Given the description of an element on the screen output the (x, y) to click on. 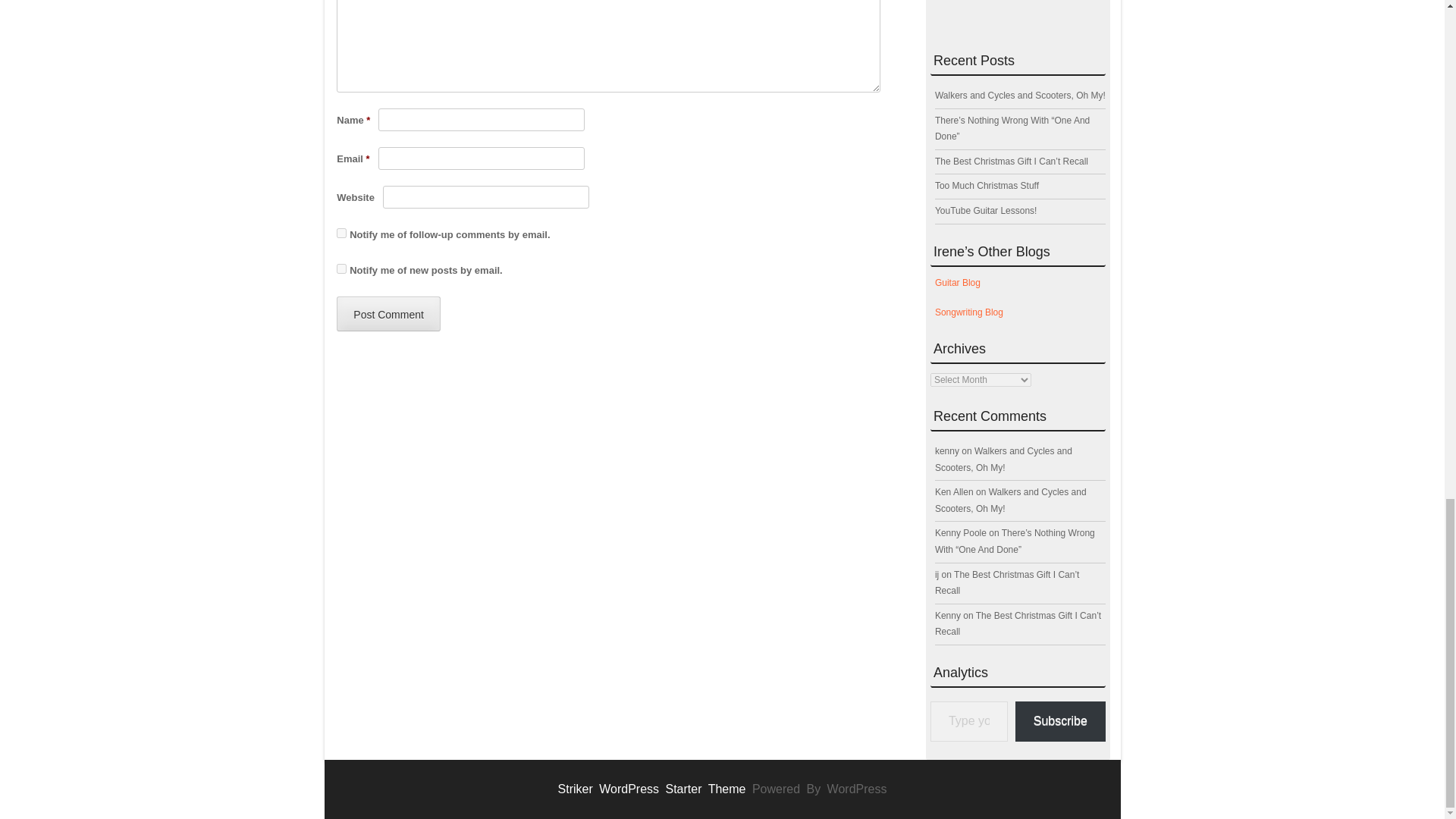
Please fill in this field. (968, 721)
Songwriting Blog (968, 312)
Subscribe (1059, 721)
subscribe (341, 233)
Too Much Christmas Stuff (986, 185)
Post Comment (388, 313)
YouTube Guitar Lessons! (985, 210)
Advertisement (1017, 13)
Walkers and Cycles and Scooters, Oh My! (1019, 95)
Walkers and Cycles and Scooters, Oh My! (1002, 459)
